Given the description of an element on the screen output the (x, y) to click on. 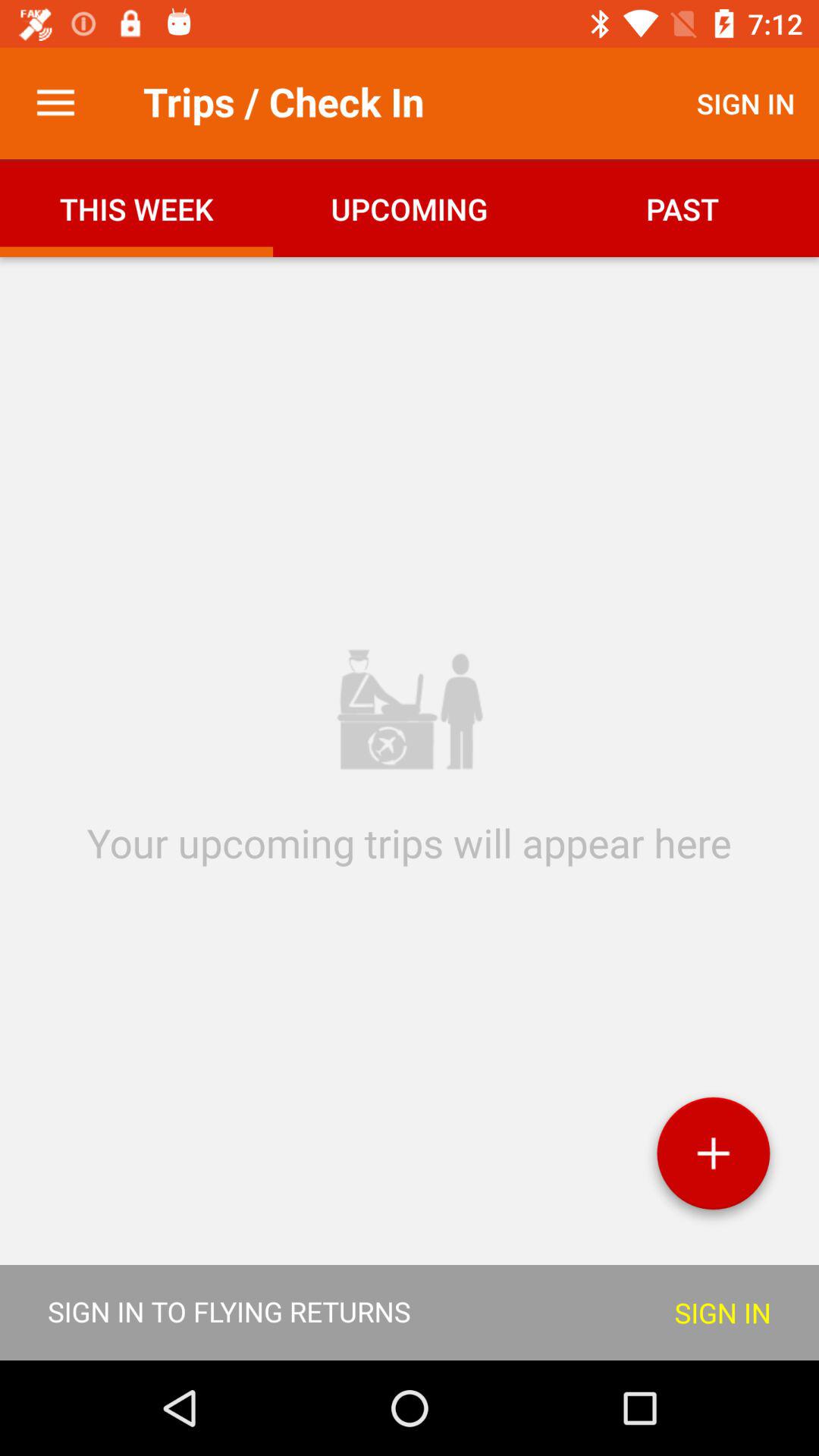
click the icon next to trips / check in item (55, 103)
